Given the description of an element on the screen output the (x, y) to click on. 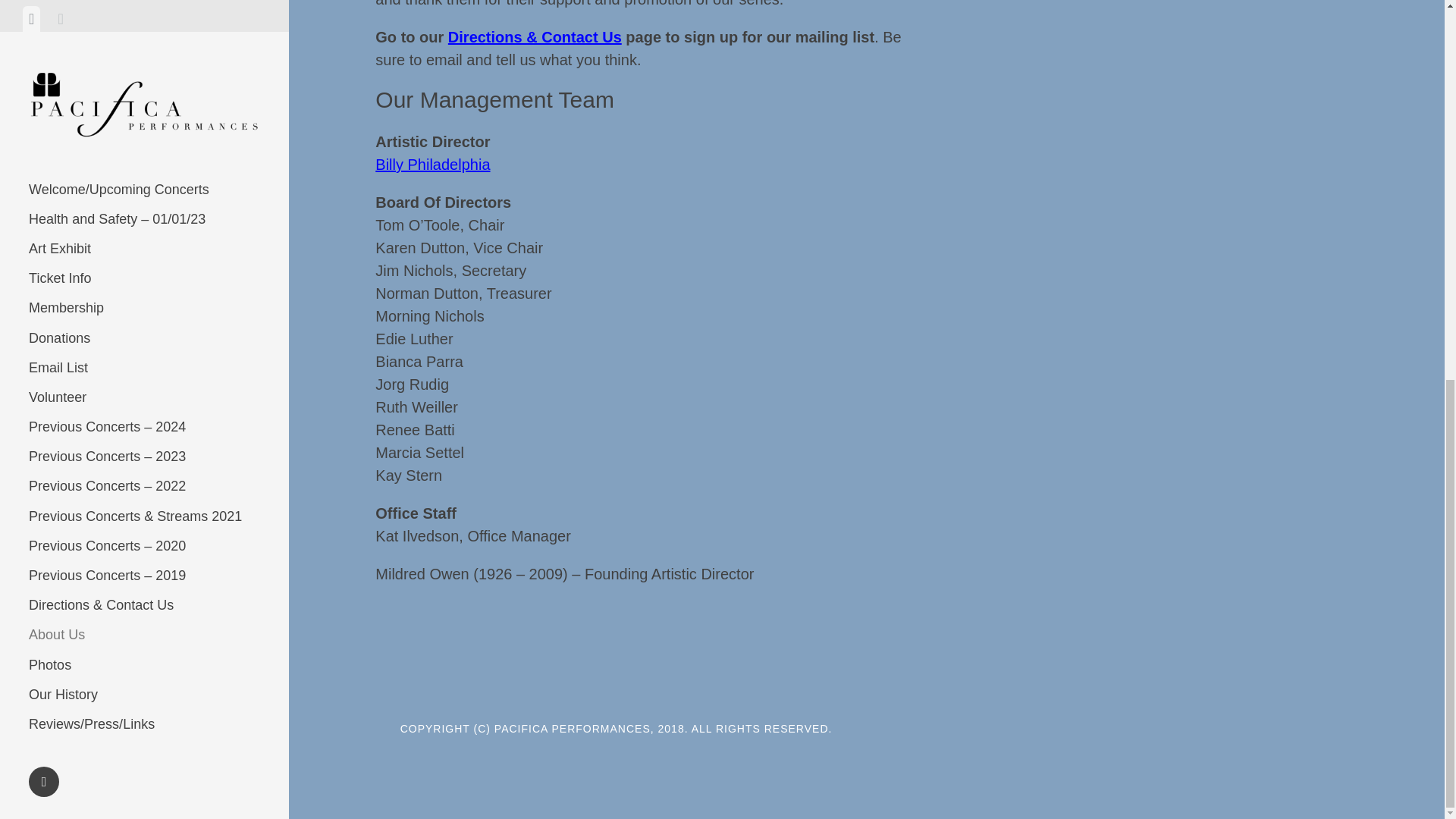
Our History (144, 2)
Billy Philadelphia (432, 164)
facebook (44, 76)
